Given the description of an element on the screen output the (x, y) to click on. 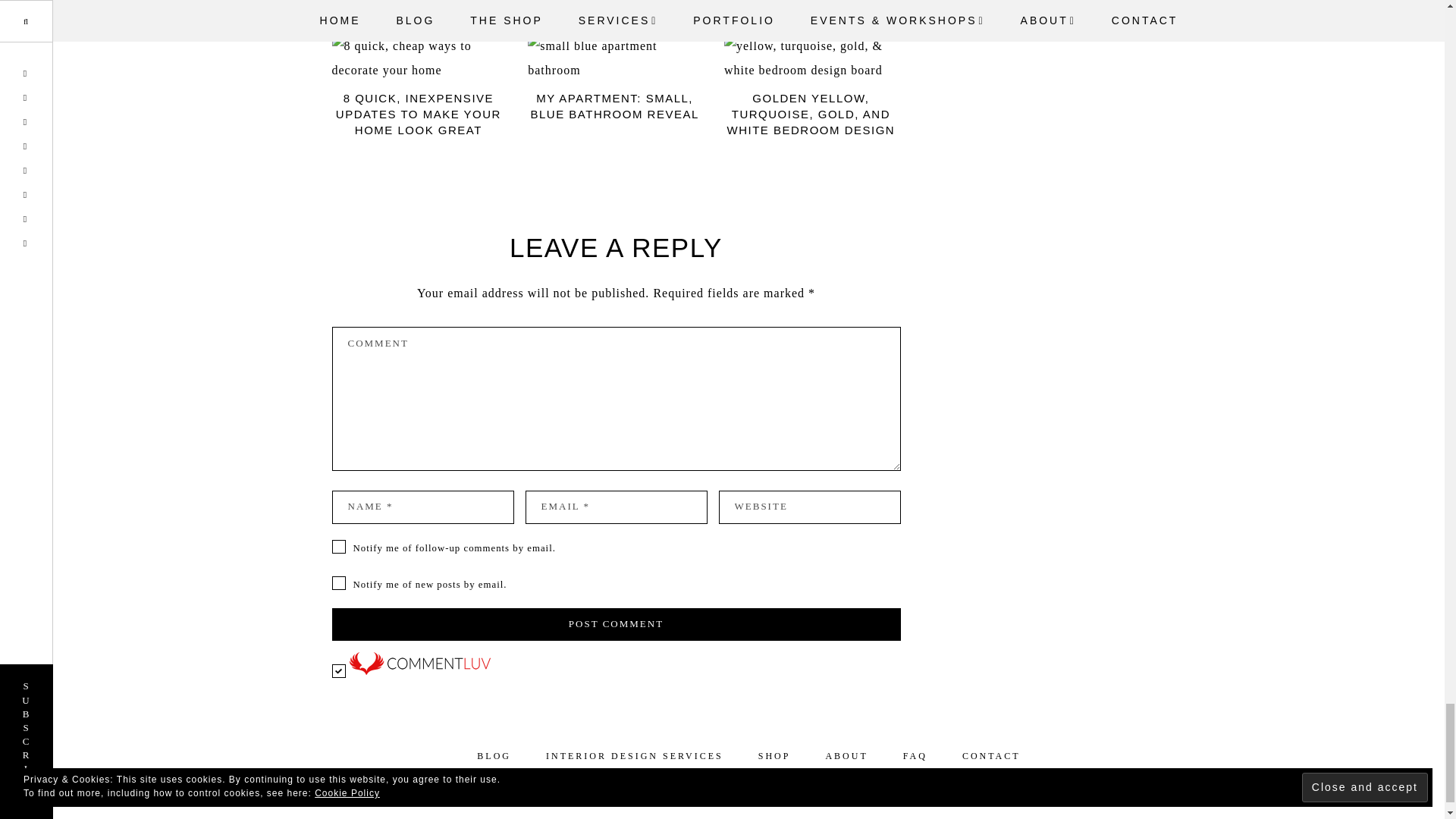
Post Comment (616, 624)
on (338, 671)
subscribe (338, 546)
subscribe (338, 582)
CommentLuv is enabled (419, 670)
